Given the description of an element on the screen output the (x, y) to click on. 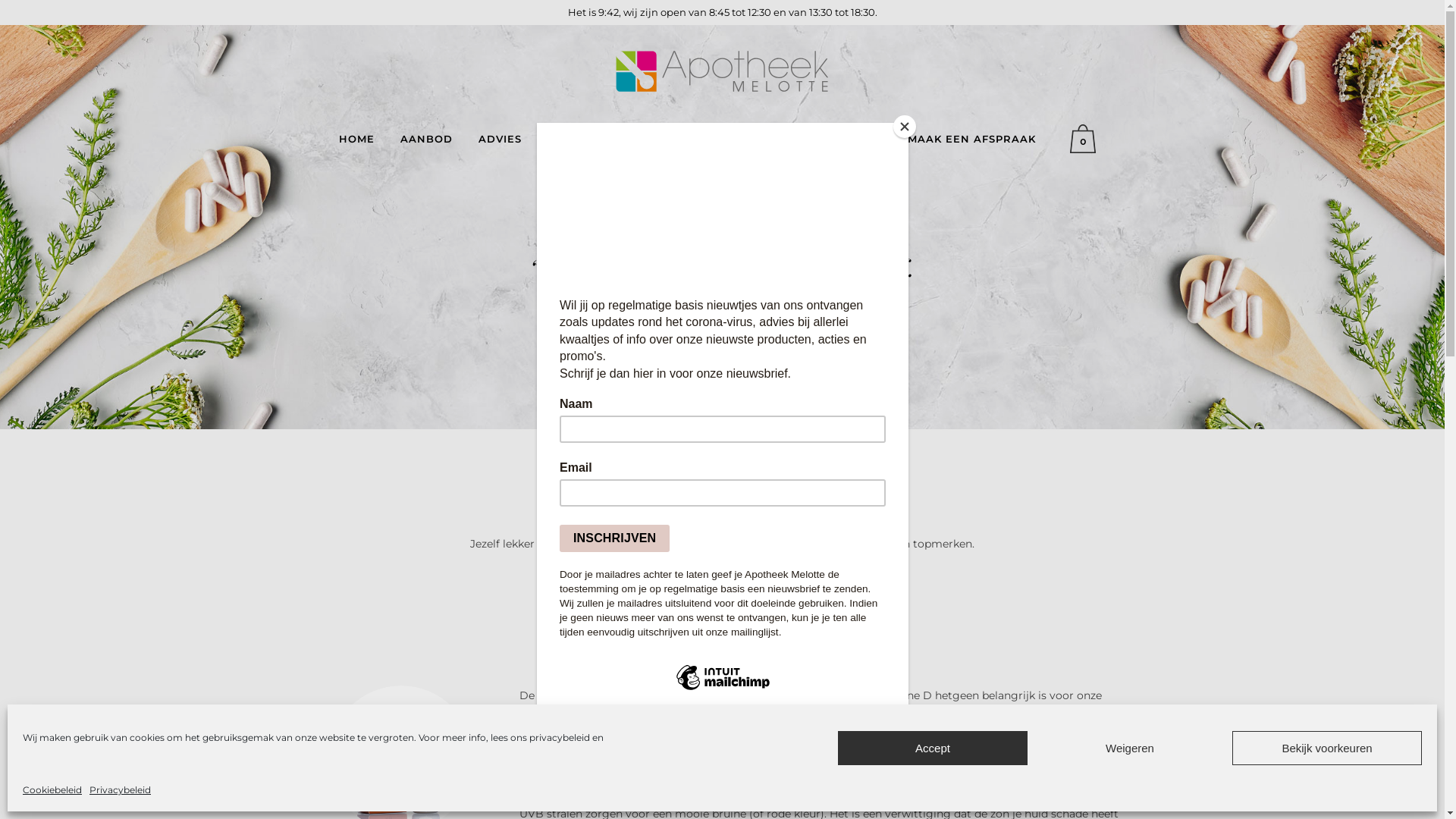
Weigeren Element type: text (1129, 748)
privacybeleid Element type: text (559, 737)
0 Element type: text (1086, 138)
HOME Element type: text (356, 138)
eucalyptus Element type: hover (721, 600)
Privacybeleid Element type: text (119, 790)
Cookiebeleid Element type: text (51, 790)
Accept Element type: text (932, 748)
Bekijk voorkeuren Element type: text (1326, 748)
MAAK EEN AFSPRAAK Element type: text (971, 138)
BLOG Element type: text (694, 138)
ADVIES Element type: text (499, 138)
BELEEF HET HIER Element type: text (599, 138)
TEAM Element type: text (752, 138)
SHOP Element type: text (810, 138)
AANBOD Element type: text (426, 138)
INFO Element type: text (867, 138)
